Given the description of an element on the screen output the (x, y) to click on. 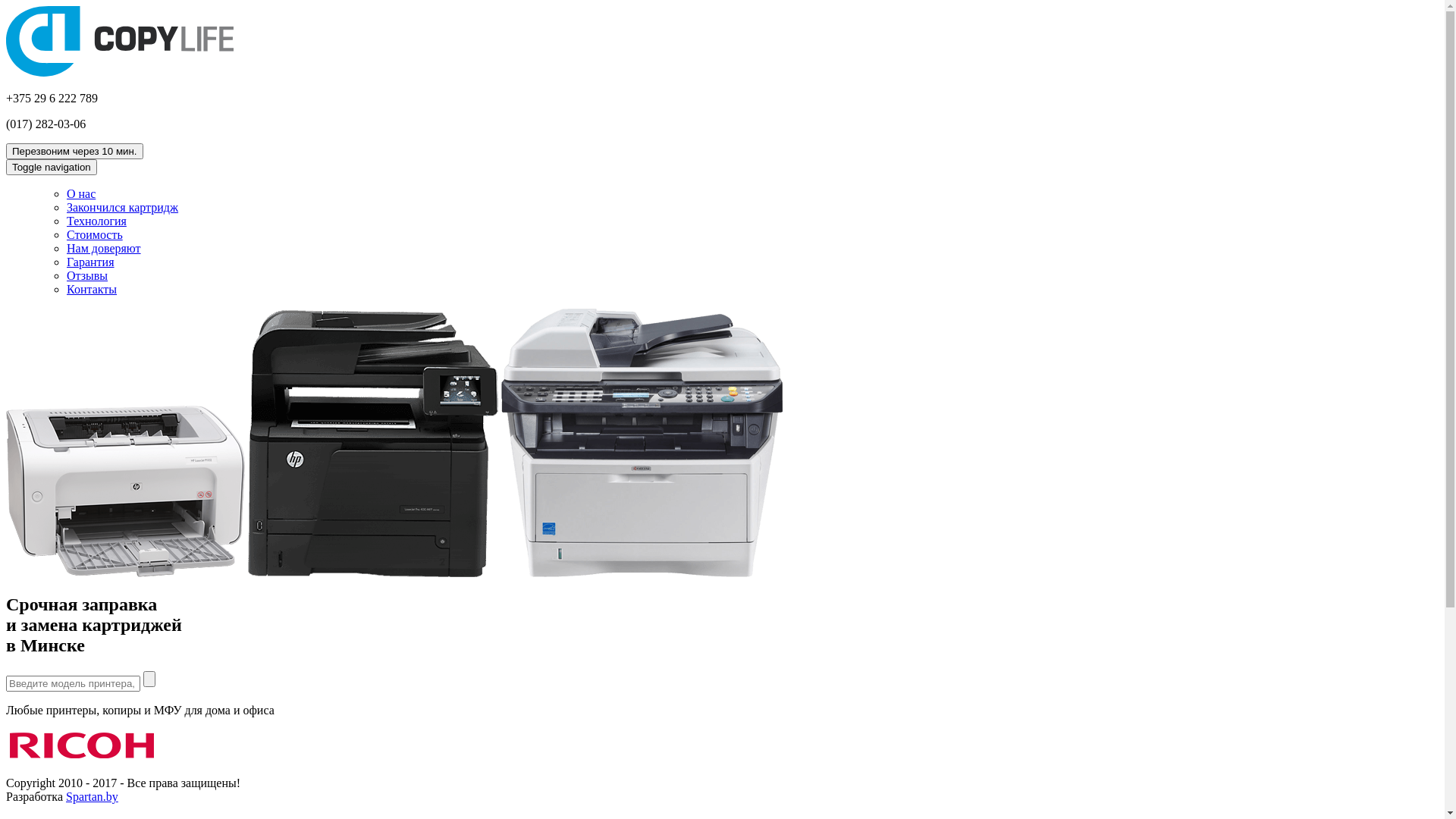
Toggle navigation Element type: text (51, 167)
Spartan.by Element type: text (91, 796)
